Given the description of an element on the screen output the (x, y) to click on. 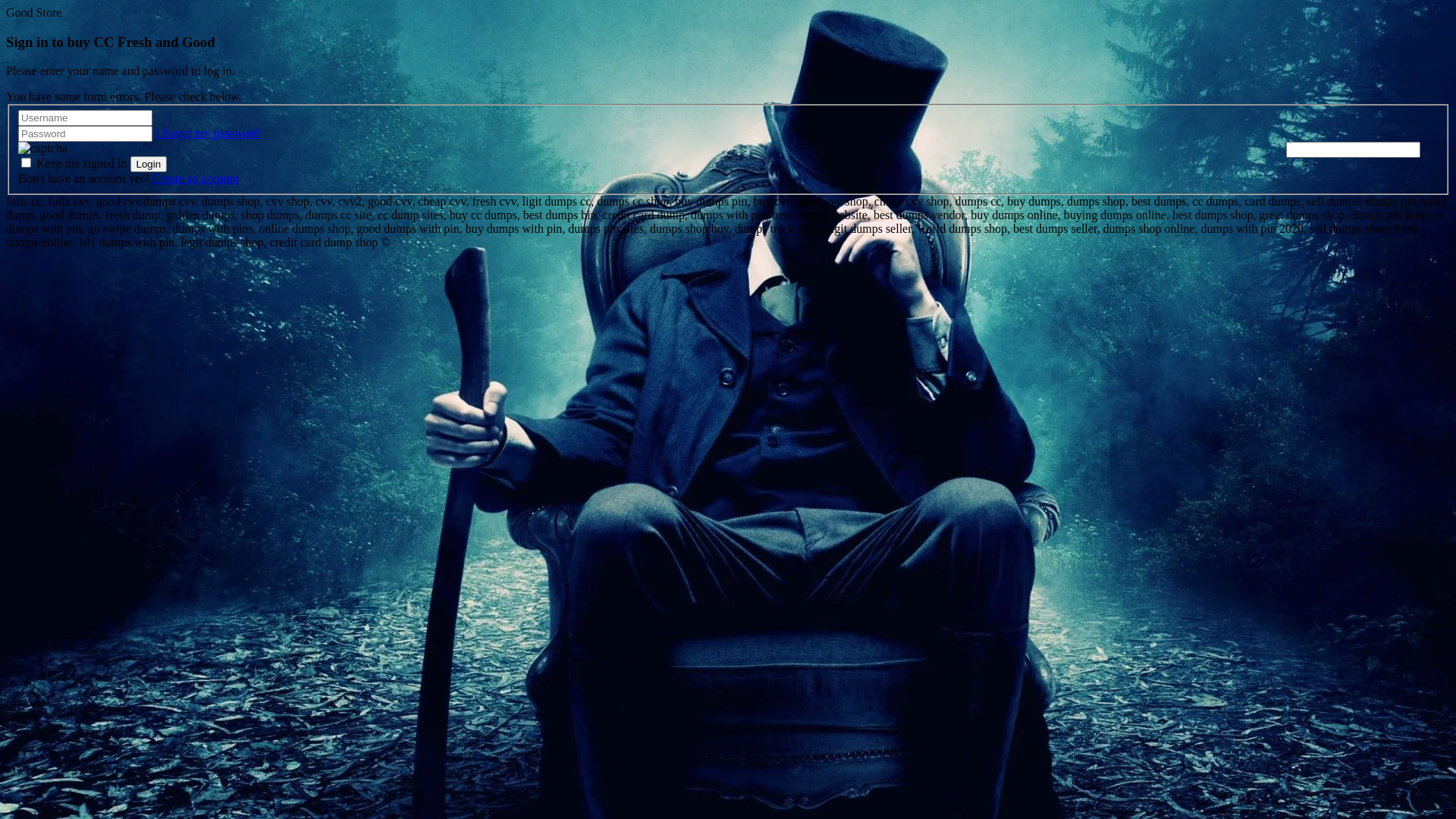
Login Element type: text (148, 164)
I forgot my password Element type: text (207, 132)
Create an account Element type: text (195, 178)
